Given the description of an element on the screen output the (x, y) to click on. 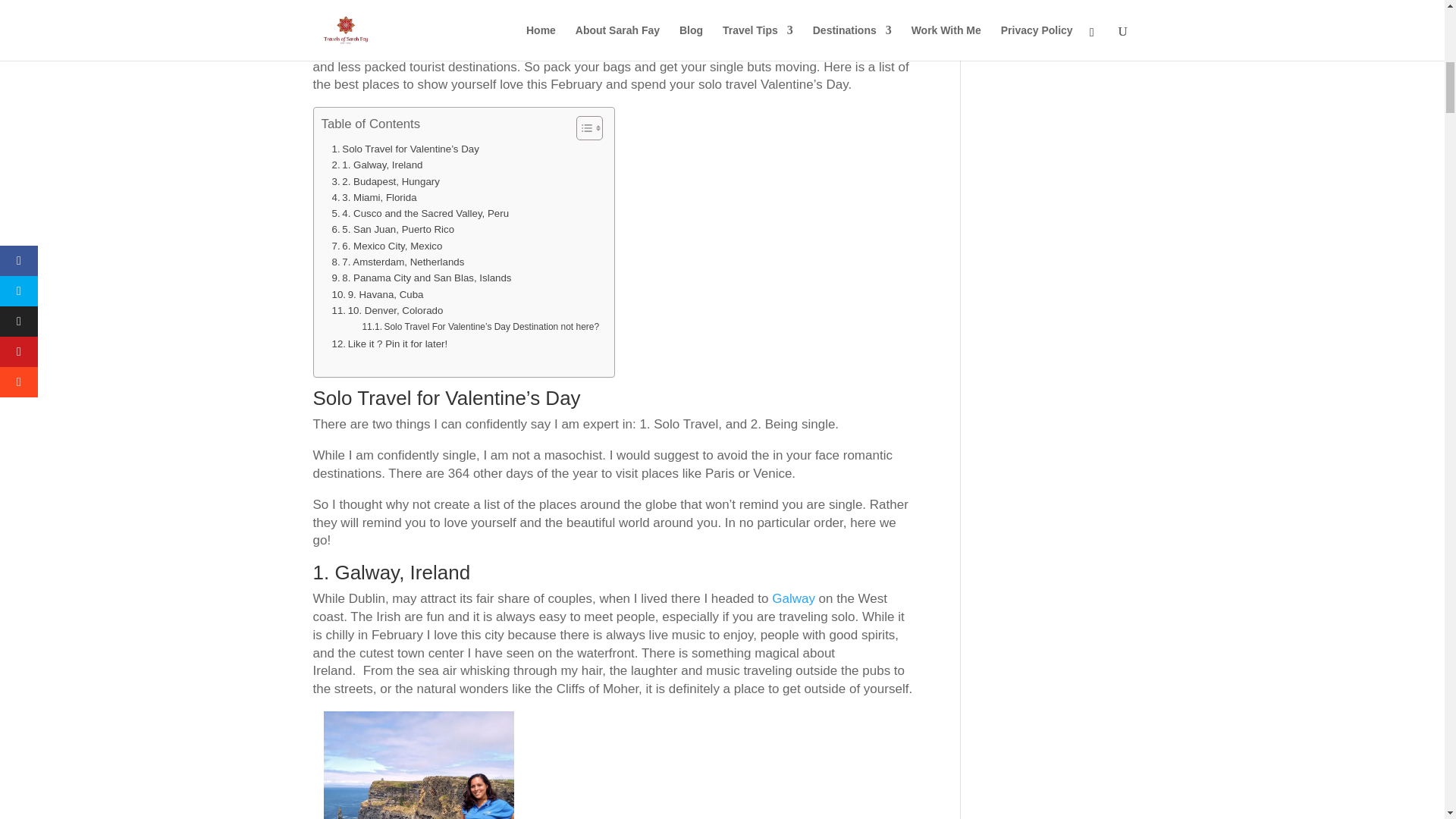
10. Denver, Colorado  (388, 310)
9. Havana, Cuba  (378, 294)
2. Budapest, Hungary  (386, 181)
7. Amsterdam, Netherlands  (399, 261)
1. Galway, Ireland  (378, 164)
Like it ? Pin it for later! (389, 343)
3. Miami, Florida  (375, 197)
6. Mexico City, Mexico  (388, 245)
4. Cusco and the Sacred Valley, Peru  (421, 213)
